Given the description of an element on the screen output the (x, y) to click on. 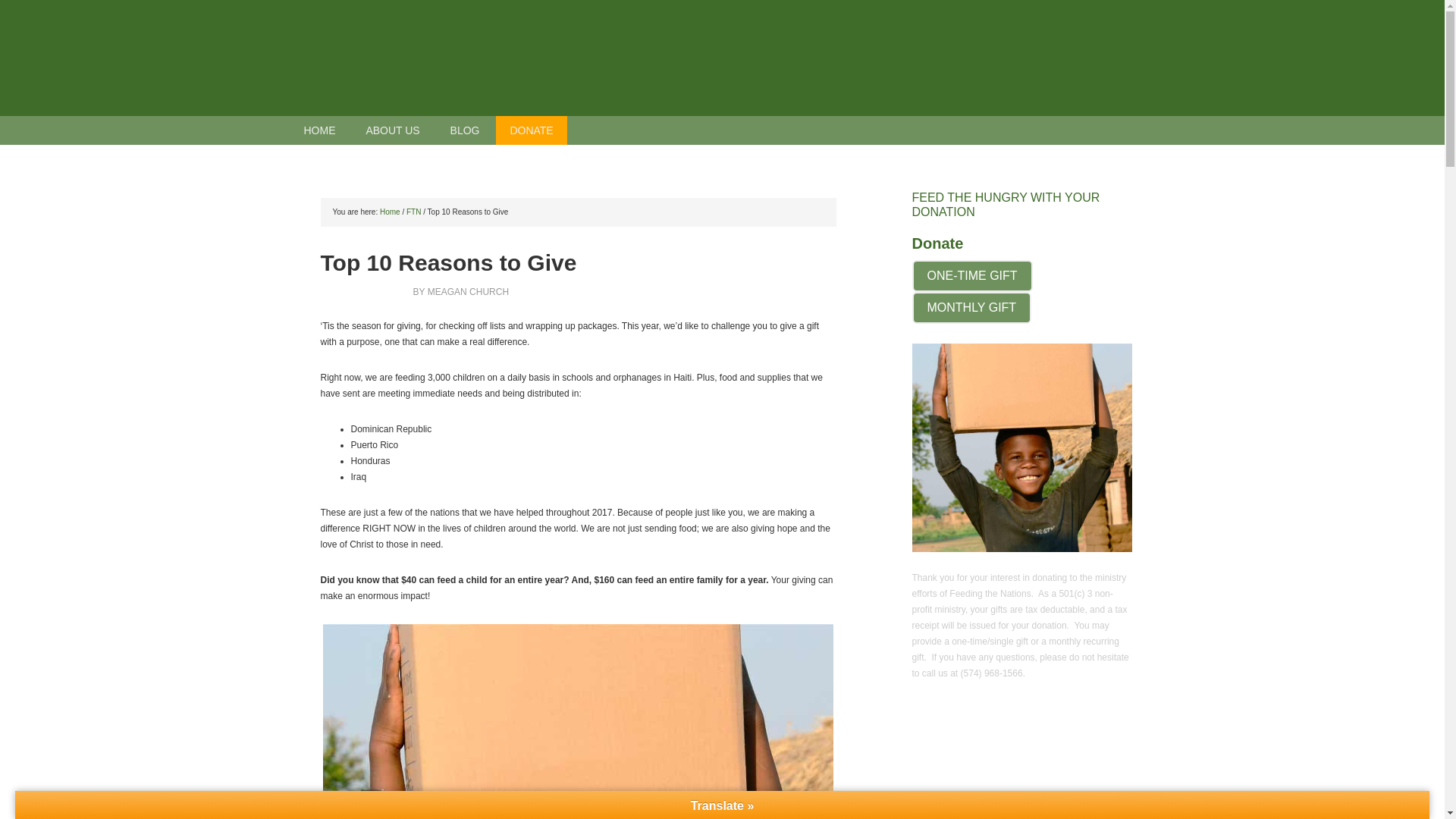
BLOG (464, 130)
MEAGAN CHURCH (468, 291)
FTN (413, 212)
DONATE (531, 130)
HOME (319, 130)
Home (390, 212)
ABOUT US (392, 130)
FEEDING THE NATIONS (721, 57)
